Given the description of an element on the screen output the (x, y) to click on. 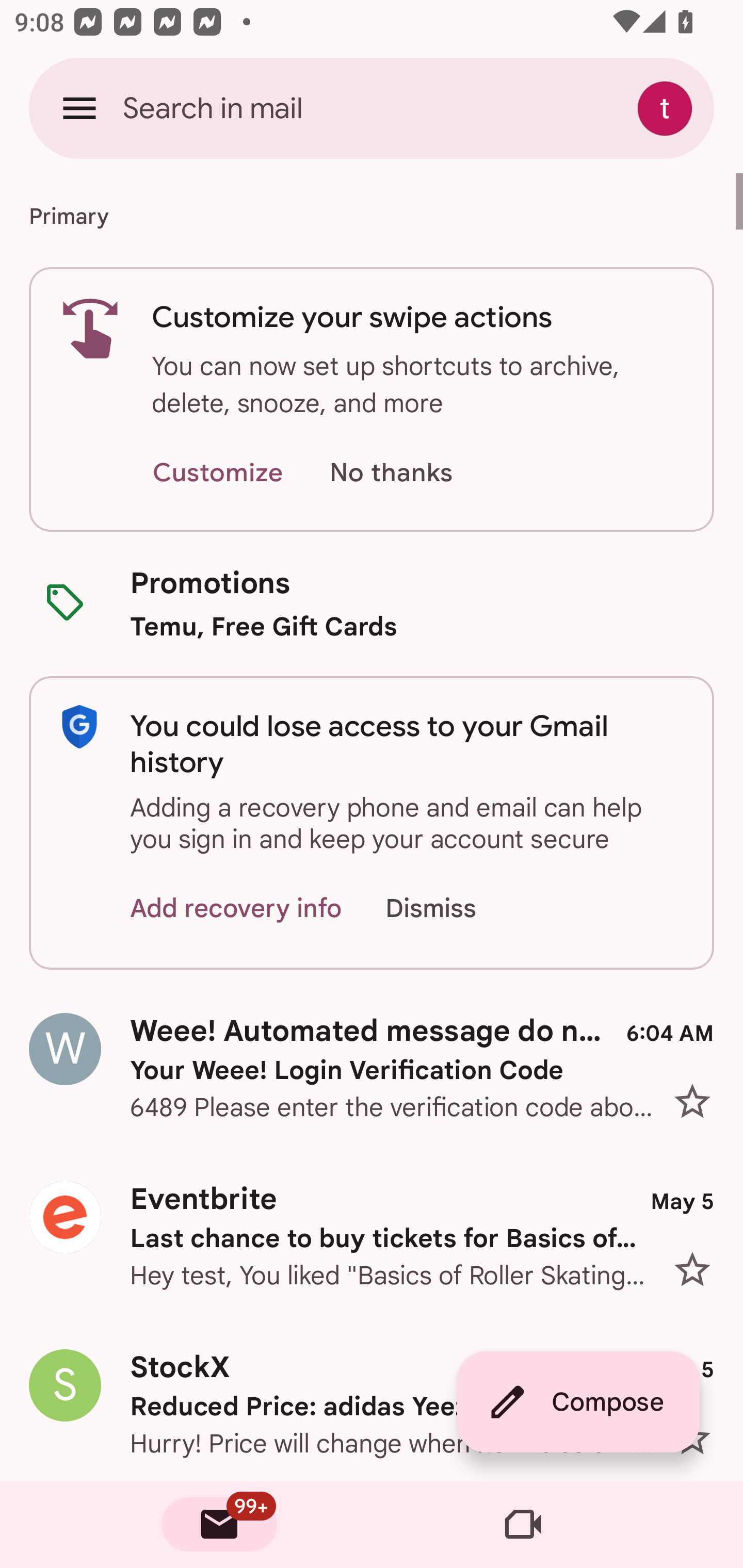
Open navigation drawer (79, 108)
Customize (217, 473)
No thanks (390, 473)
Promotions Temu, Free Gift Cards (371, 603)
Add recovery info (235, 908)
Dismiss (449, 908)
Compose (577, 1401)
Meet (523, 1524)
